Given the description of an element on the screen output the (x, y) to click on. 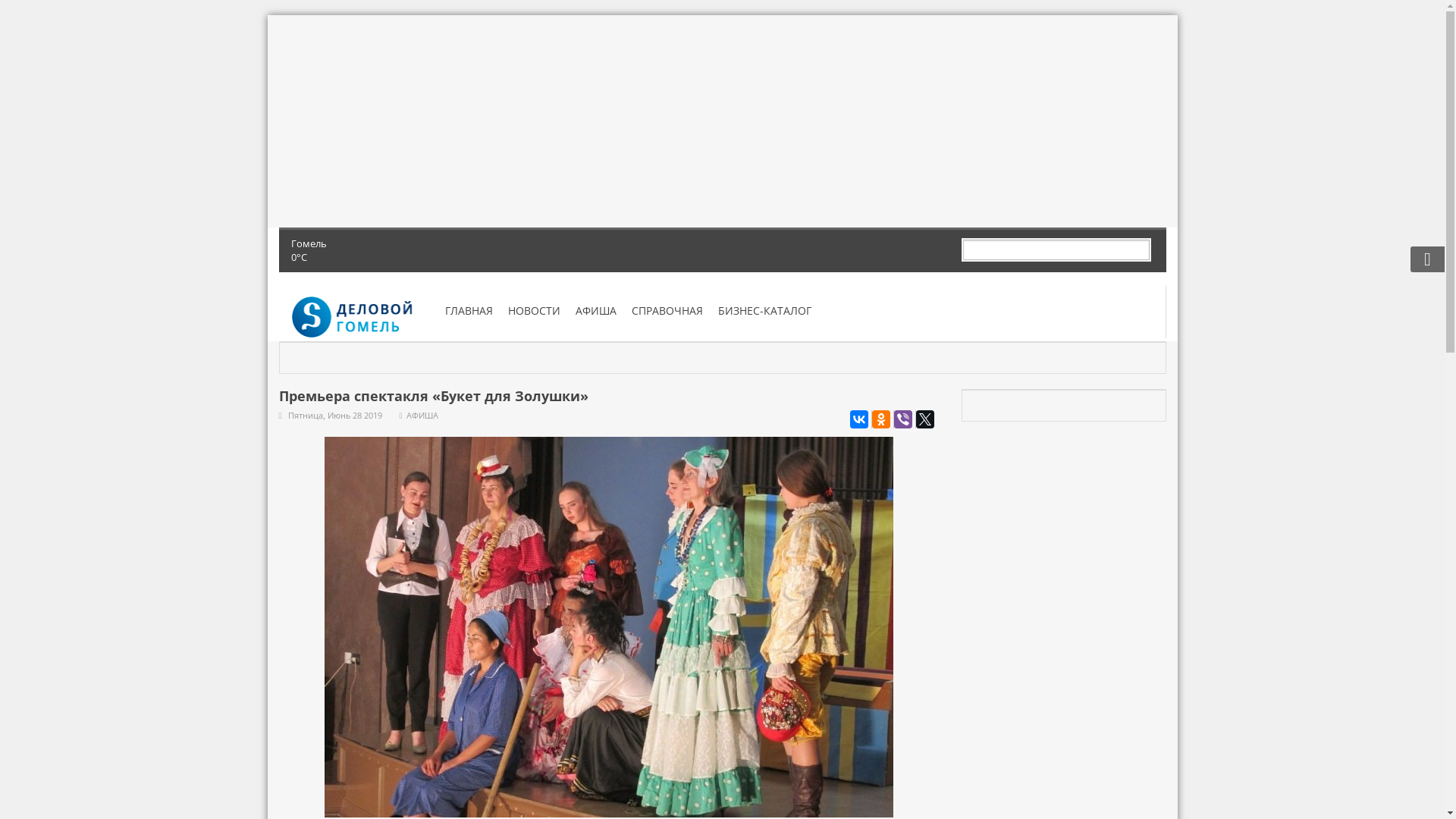
Viber Element type: hover (902, 419)
Twitter Element type: hover (925, 419)
Advertisement Element type: hover (722, 121)
